Given the description of an element on the screen output the (x, y) to click on. 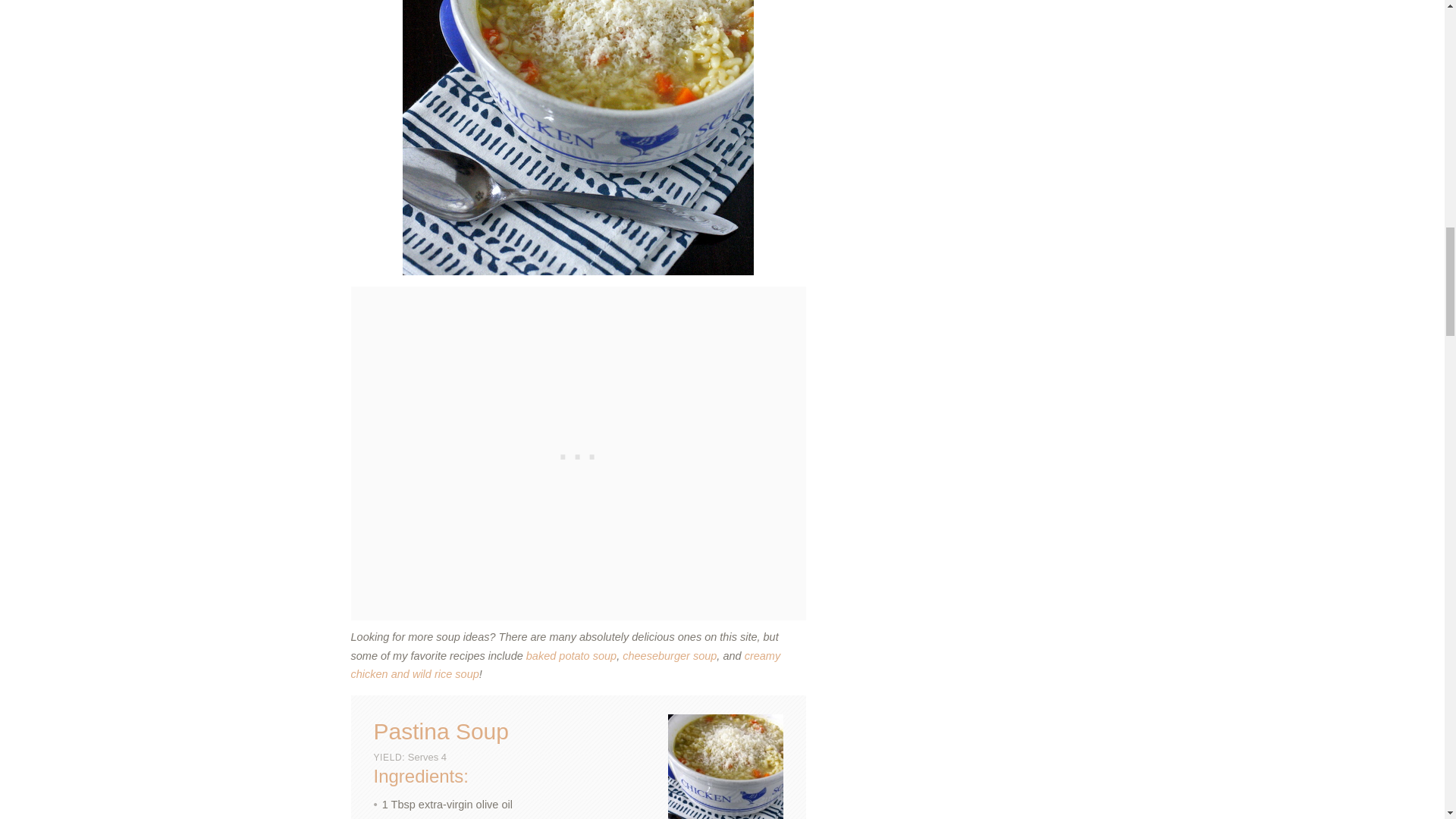
creamy chicken and wild rice soup (565, 665)
cheeseburger soup (669, 655)
baked potato soup (570, 655)
